Given the description of an element on the screen output the (x, y) to click on. 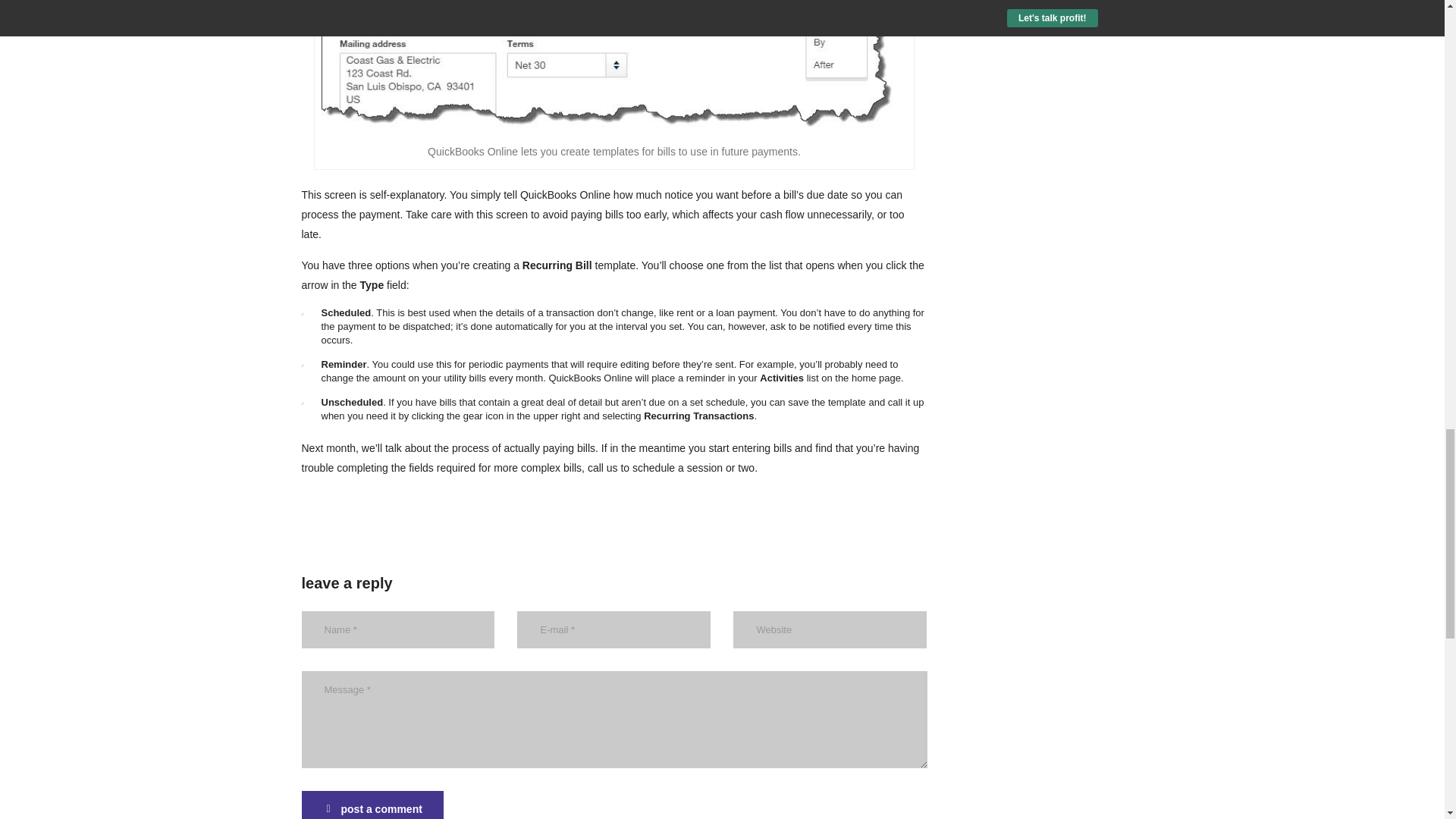
post a comment (372, 805)
